Given the description of an element on the screen output the (x, y) to click on. 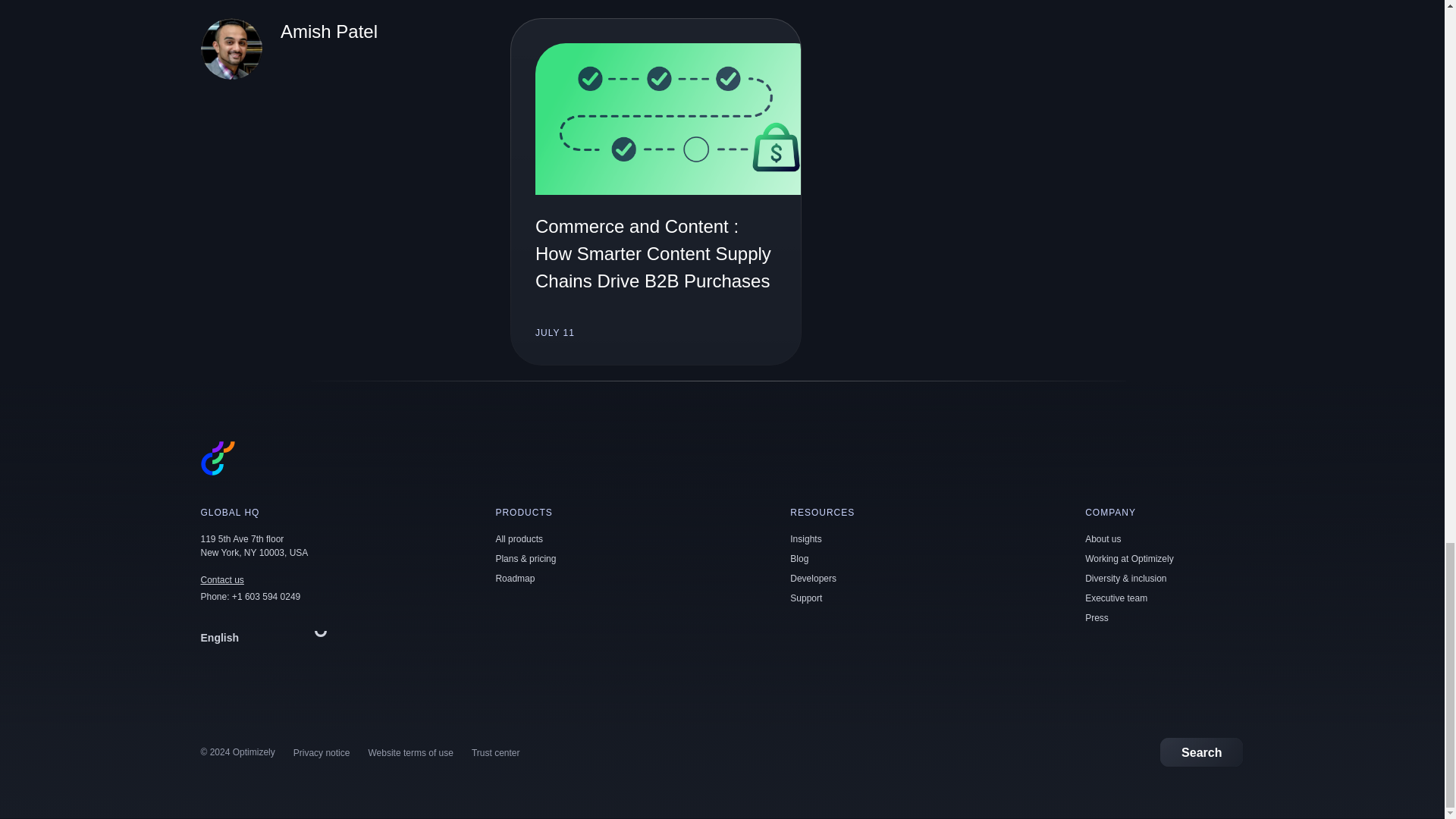
Privacy notice (322, 752)
All products (519, 538)
Roadmap (514, 578)
Search (1200, 752)
Blog (799, 558)
Working at Optimizely (1128, 558)
Insights (805, 538)
Website terms of use (410, 752)
Contact us (221, 580)
English (266, 637)
Contact us (221, 580)
About us (1102, 538)
Trust center (495, 752)
Developers (812, 578)
Press (1096, 617)
